Given the description of an element on the screen output the (x, y) to click on. 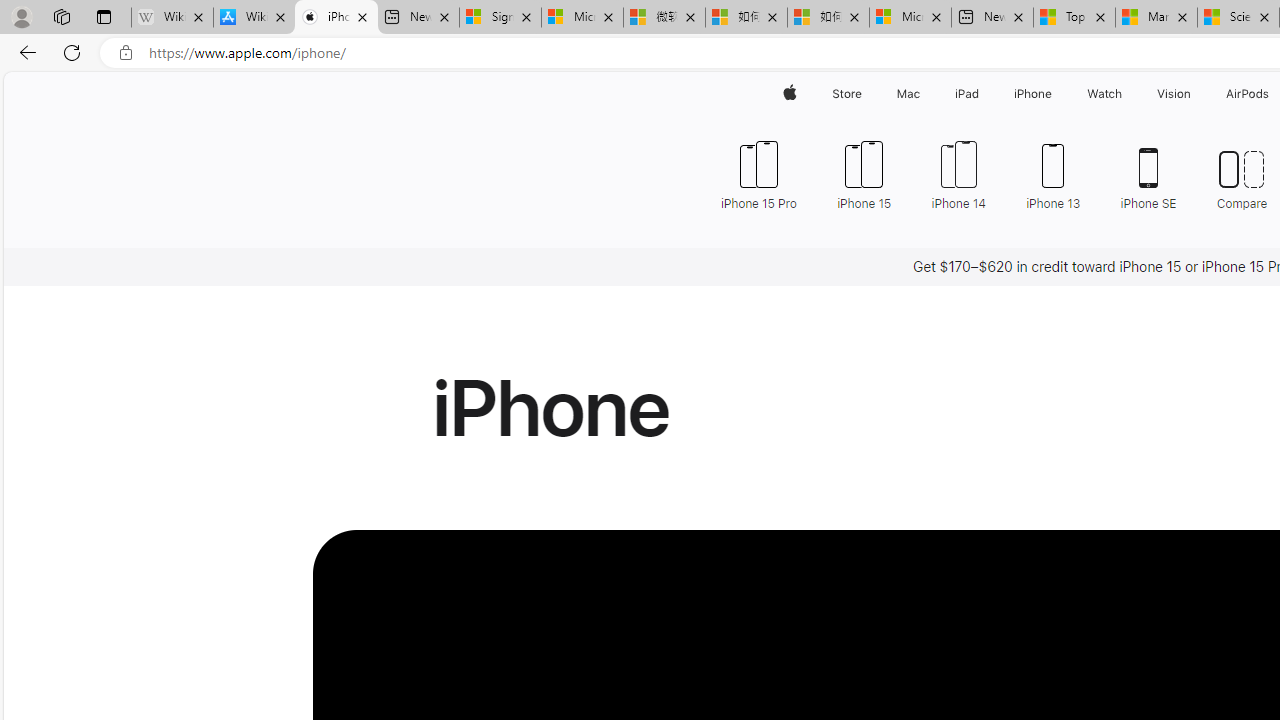
iPhone (1033, 93)
Mac menu (922, 93)
iPhone 13 (1053, 173)
Vision (1174, 93)
Store menu (864, 93)
AirPods (1247, 93)
iPad menu (982, 93)
iPhone 15 (863, 173)
iPad (965, 93)
